Given the description of an element on the screen output the (x, y) to click on. 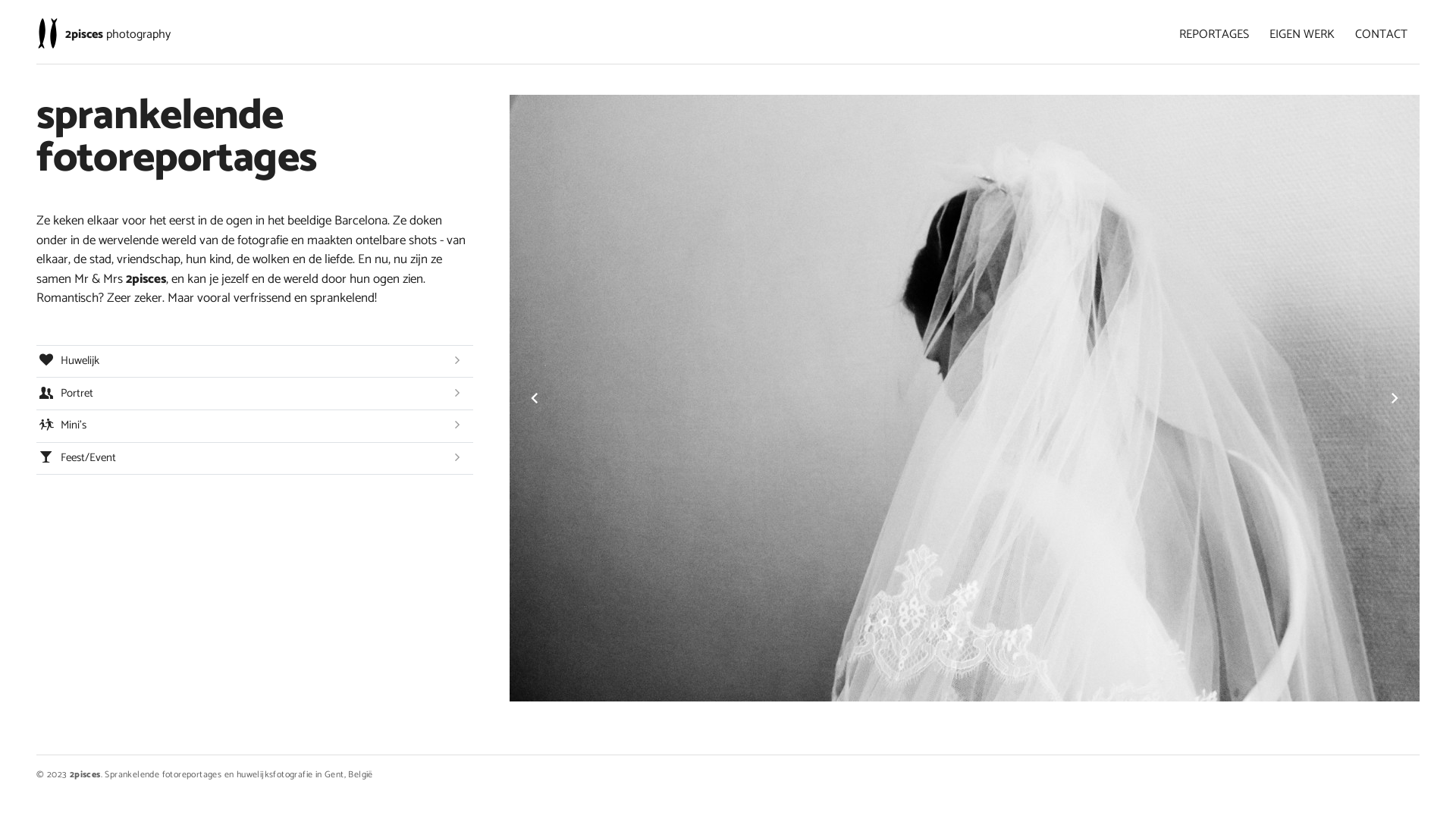
Portret Element type: text (254, 393)
REPORTAGES Element type: text (1214, 34)
EIGEN WERK Element type: text (1301, 34)
2pisces photography Element type: text (117, 34)
chevron_right Element type: text (1394, 398)
Mini's Element type: text (254, 426)
Huwelijk Element type: text (254, 361)
CONTACT Element type: text (1381, 34)
chevron_left Element type: text (534, 398)
Feest/Event Element type: text (254, 458)
